Given the description of an element on the screen output the (x, y) to click on. 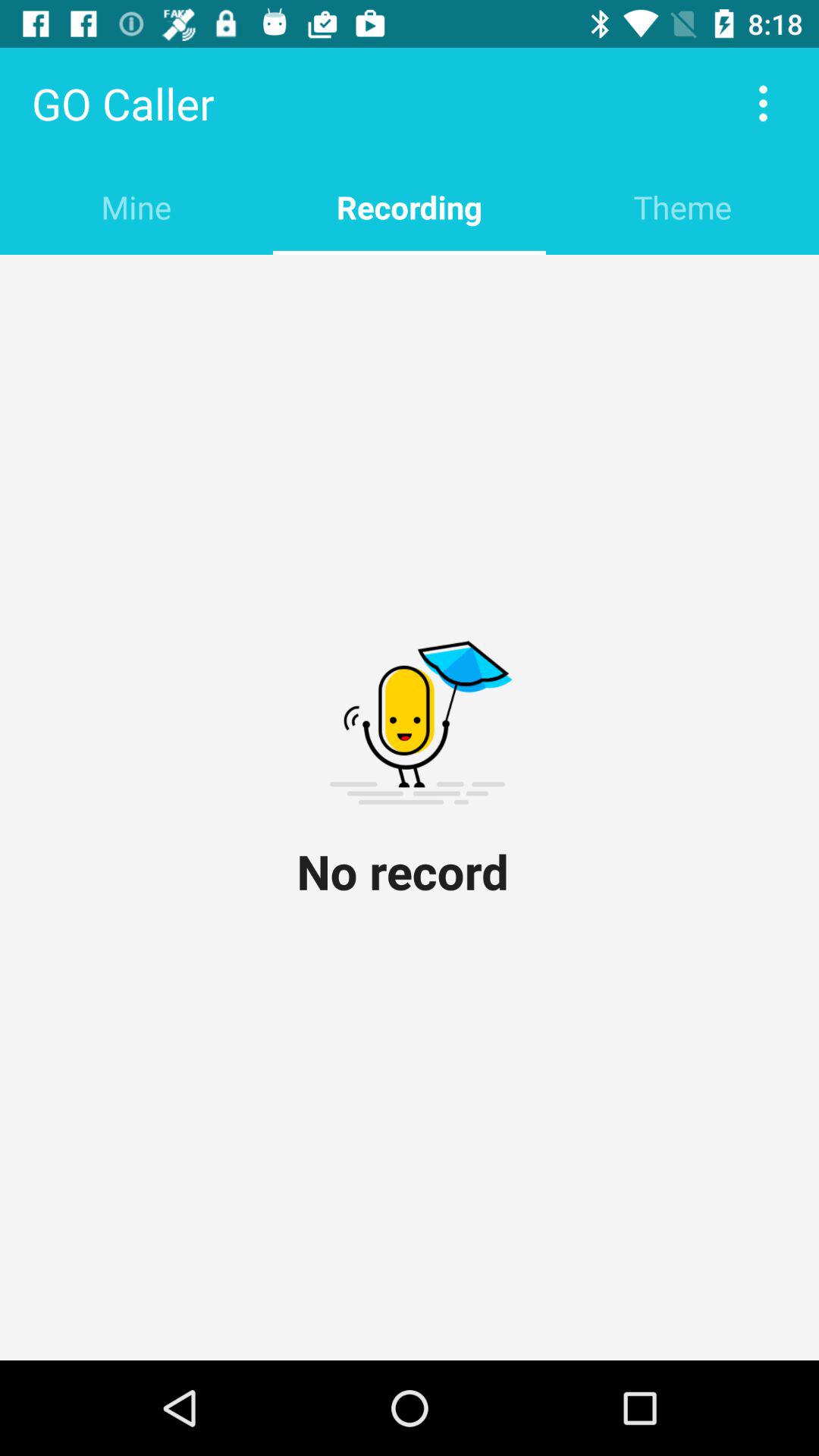
click item next to theme item (409, 206)
